Given the description of an element on the screen output the (x, y) to click on. 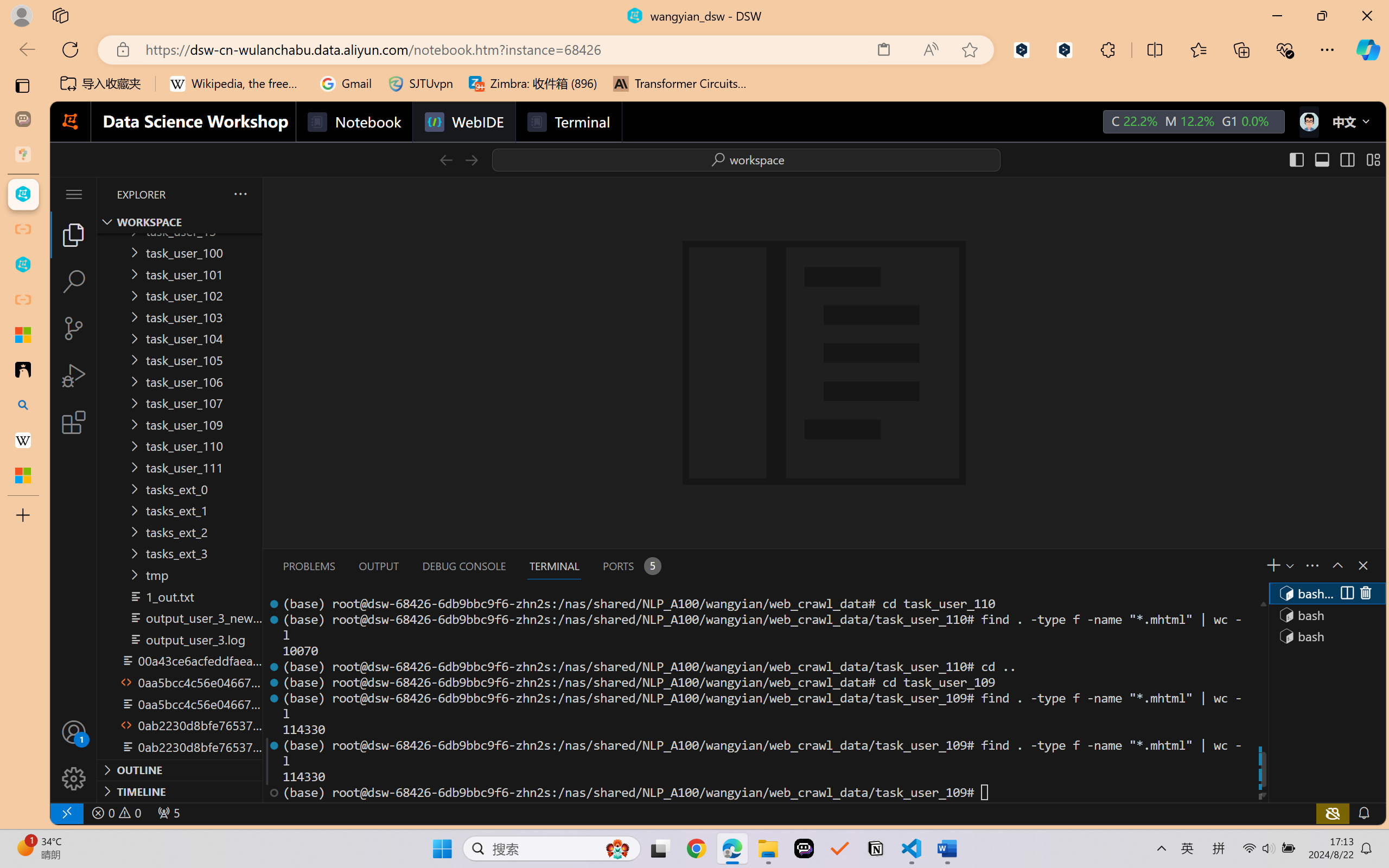
icon (1308, 121)
wangyian_dsw - DSW (22, 194)
Copilot (Ctrl+Shift+.) (1368, 49)
